Given the description of an element on the screen output the (x, y) to click on. 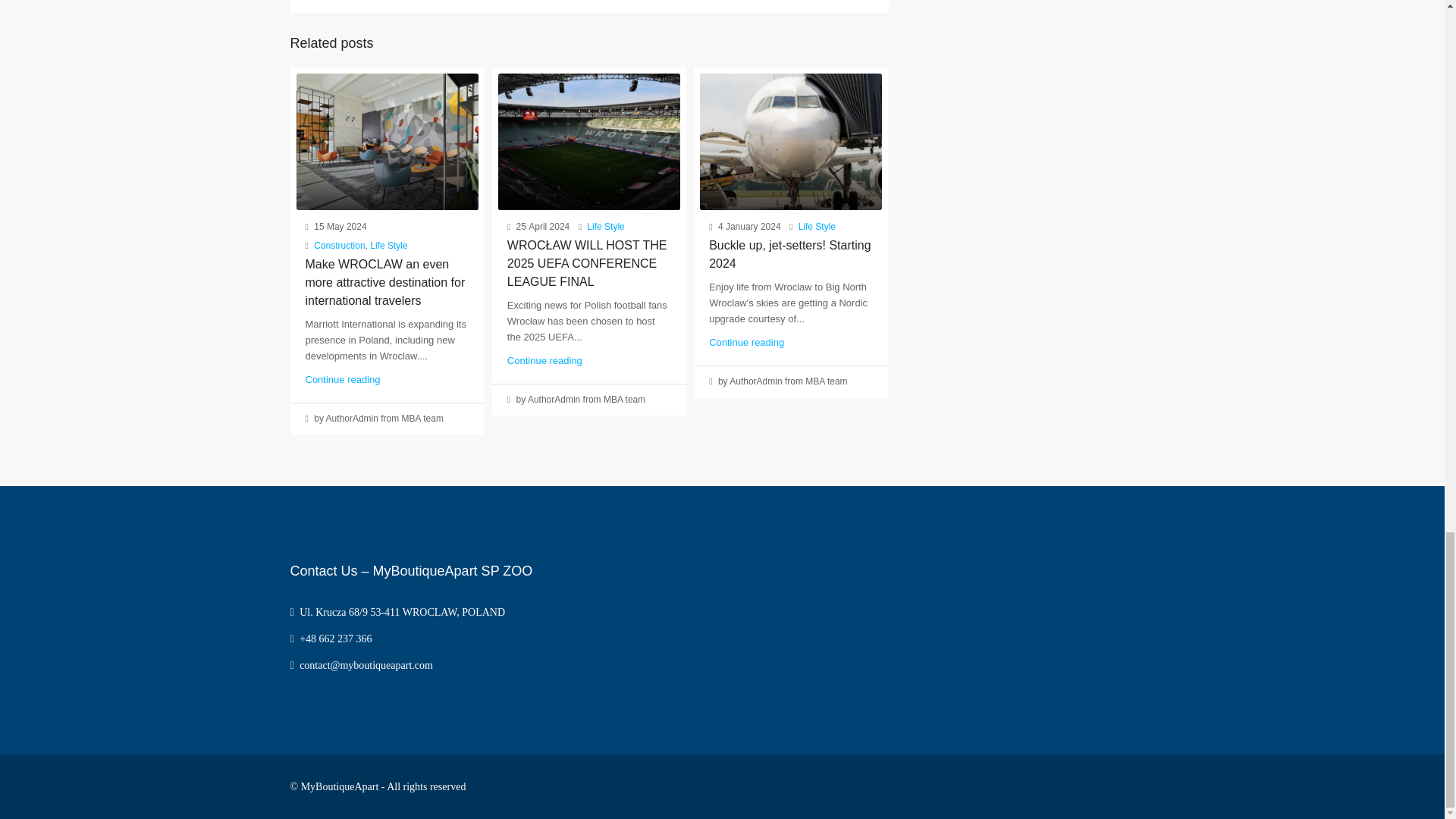
Continue reading (746, 342)
Life Style (388, 245)
Buckle up, jet-setters! Starting 2024 (791, 141)
Life Style (605, 226)
Construction (339, 245)
Buckle up, jet-setters! Starting 2024 (789, 254)
Continue reading (342, 378)
Life Style (816, 226)
Continue reading (544, 360)
